Given the description of an element on the screen output the (x, y) to click on. 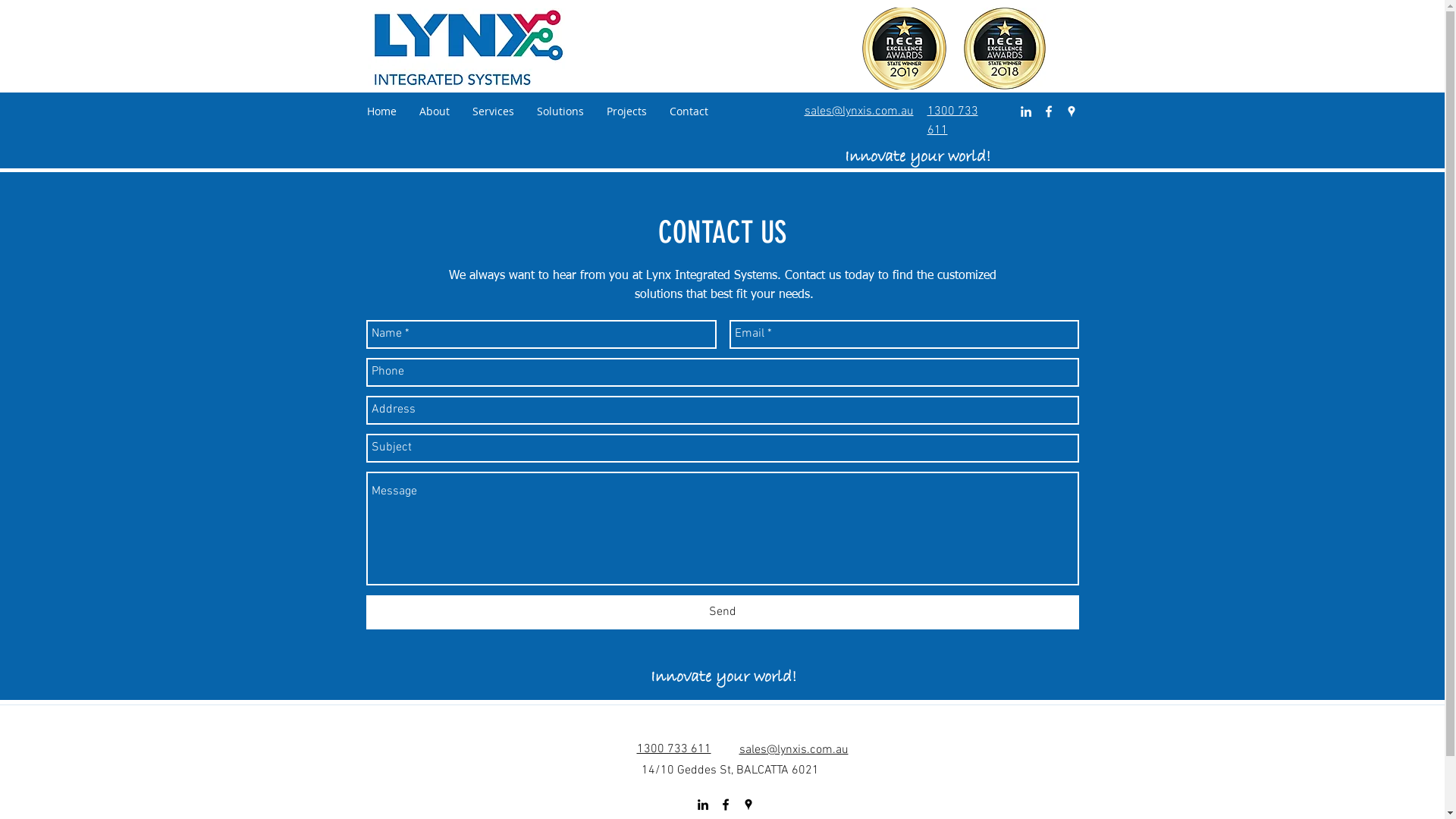
1300 733 611 Element type: text (951, 120)
Home Element type: text (380, 111)
sales@lynxis.com.au Element type: text (792, 749)
Intelligent enviroment Element type: hover (465, 47)
Send Element type: text (721, 612)
Contact Element type: text (688, 111)
sales@lynxis.com.au Element type: text (858, 111)
1300 733 611 Element type: text (674, 748)
Projects Element type: text (625, 111)
Innovate your world! Element type: text (916, 156)
About Element type: text (434, 111)
Innovate your world! Element type: text (722, 677)
Solutions Element type: text (559, 111)
Services Element type: text (493, 111)
